Given the description of an element on the screen output the (x, y) to click on. 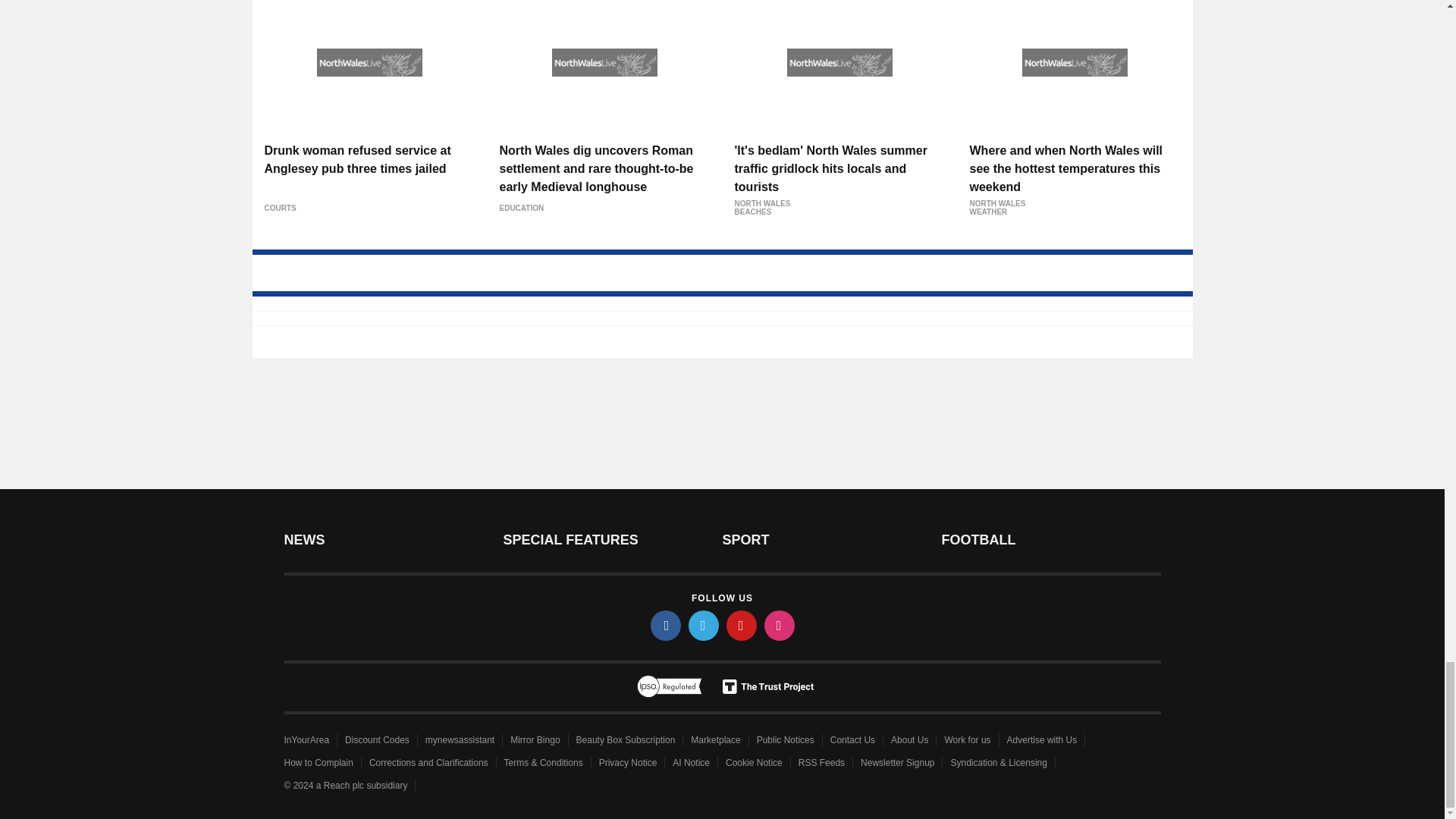
instagram (779, 625)
pinterest (741, 625)
facebook (665, 625)
twitter (703, 625)
